Given the description of an element on the screen output the (x, y) to click on. 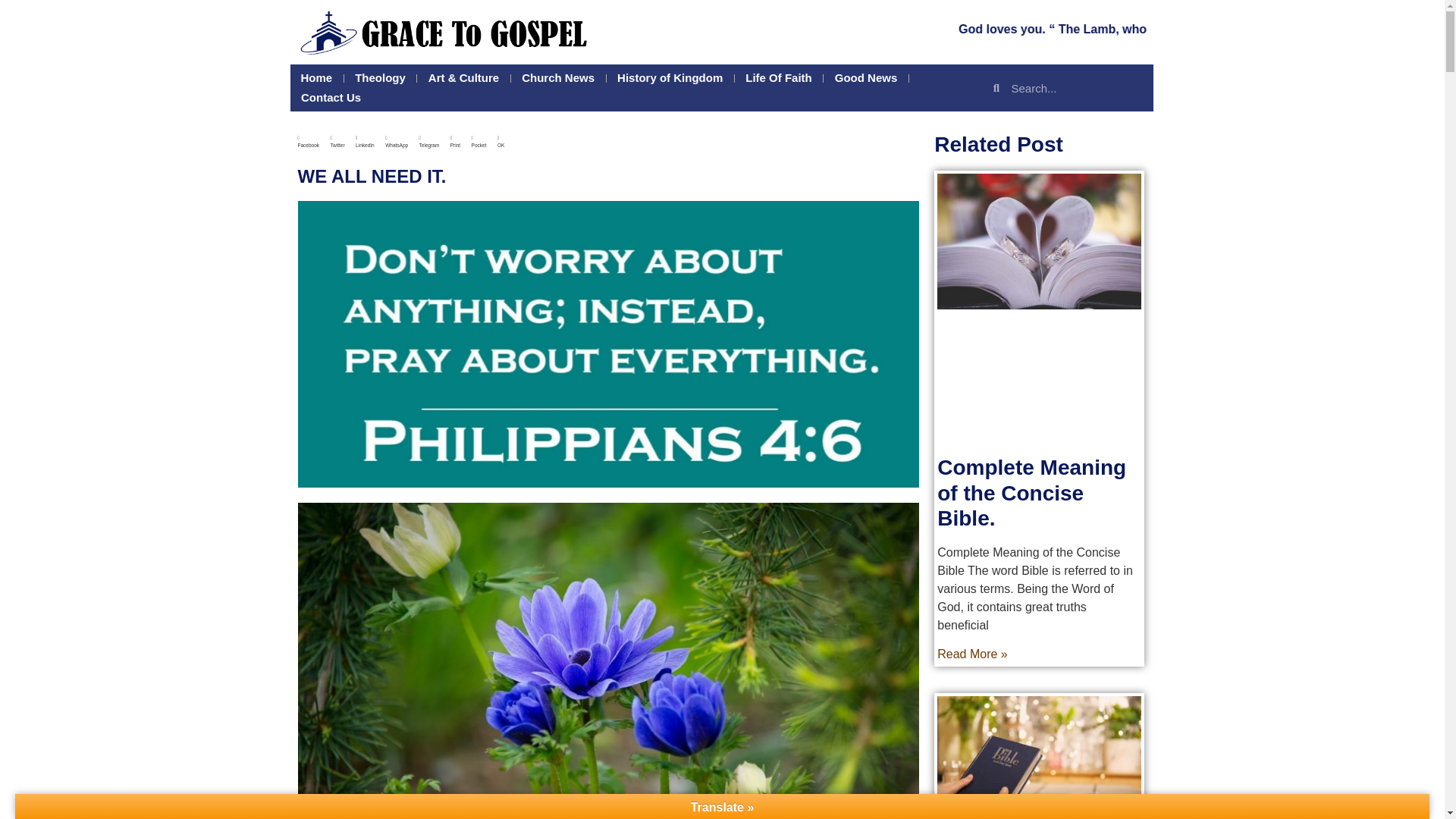
Good News (866, 77)
Theology (379, 77)
Complete Meaning of the Concise Bible. (1031, 492)
Search (1075, 87)
Church News (558, 77)
History of Kingdom (670, 77)
Life Of Faith (778, 77)
Contact Us (330, 97)
Home (315, 77)
